Given the description of an element on the screen output the (x, y) to click on. 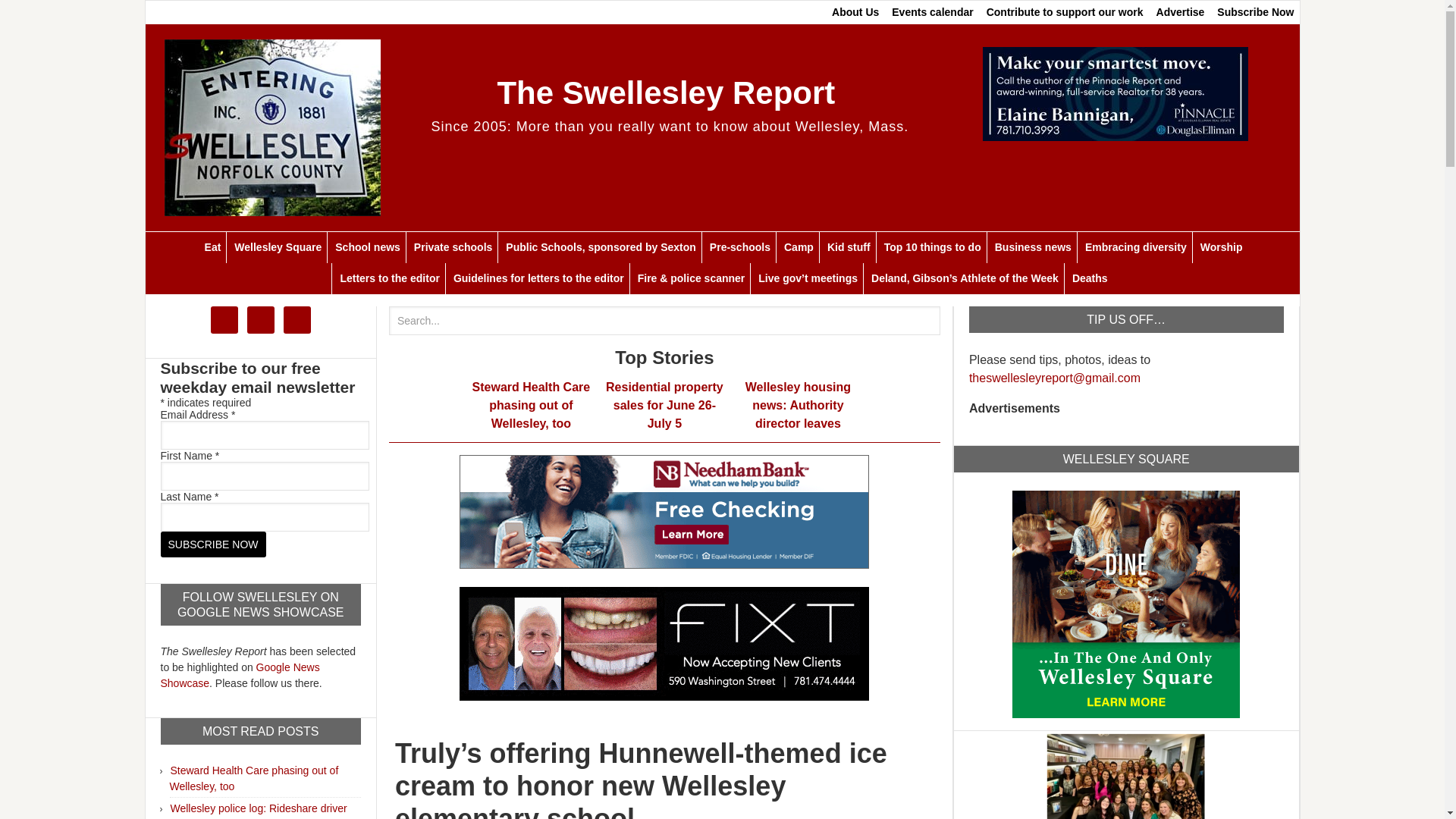
Wellesley Square (1125, 602)
Eat (212, 246)
Contribute to support our work (1064, 12)
Pre-schools (739, 246)
Advertise (1180, 12)
Steward Health Care phasing out of Wellesley, too (531, 404)
Steward Health Care phasing out of Wellesley, too (254, 778)
Letters to the editor (388, 278)
Subscribe Now (213, 544)
Embracing diversity (1135, 246)
Camp (798, 246)
Public Schools, sponsored by Sexton (600, 246)
Events calendar (931, 12)
Top 10 things to do (932, 246)
